Given the description of an element on the screen output the (x, y) to click on. 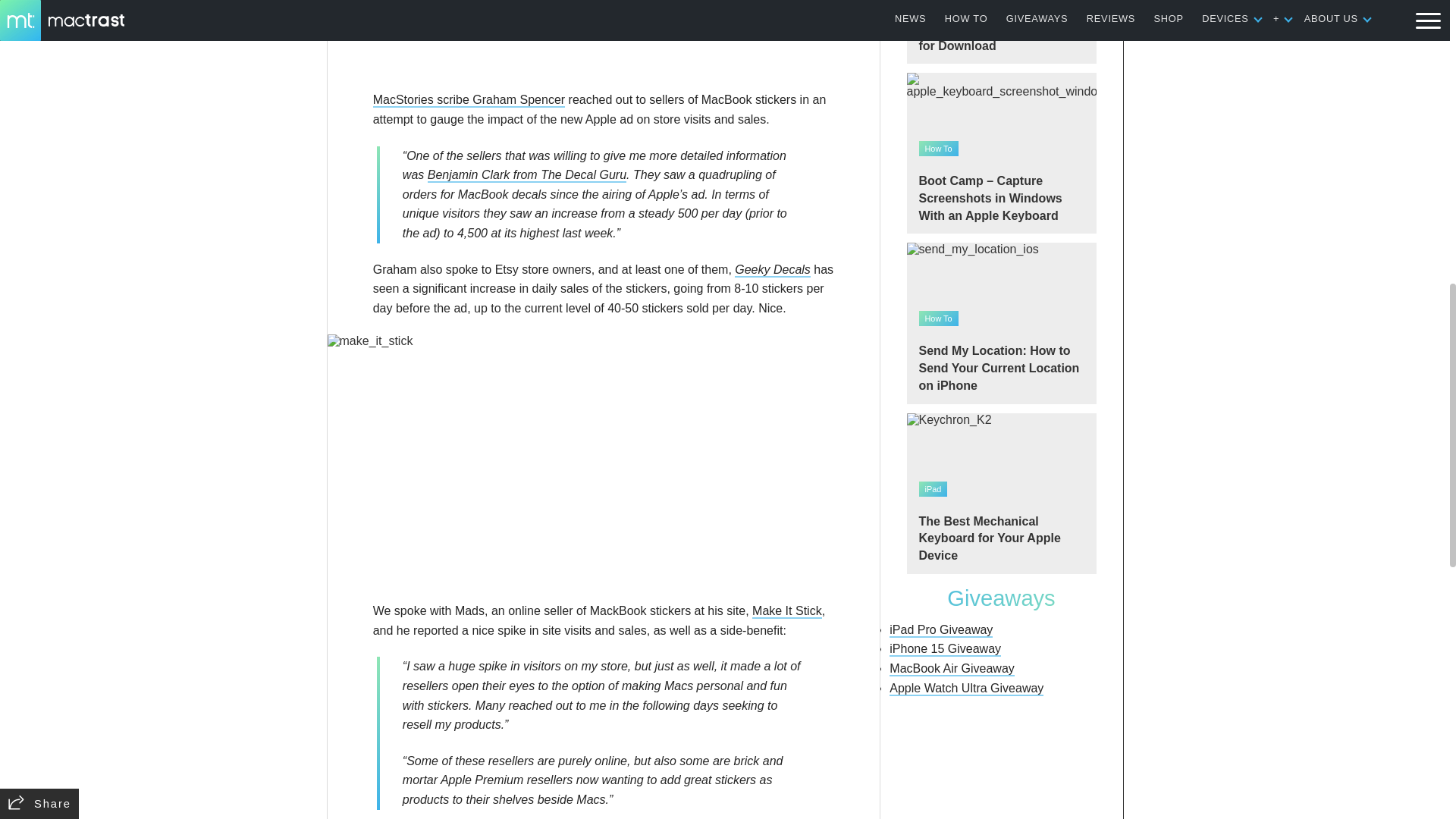
The Best Mechanical Keyboard for Your Apple Device (1001, 493)
iPhone XS and XS Max Wallpapers in High Quality for Download (1001, 31)
